Given the description of an element on the screen output the (x, y) to click on. 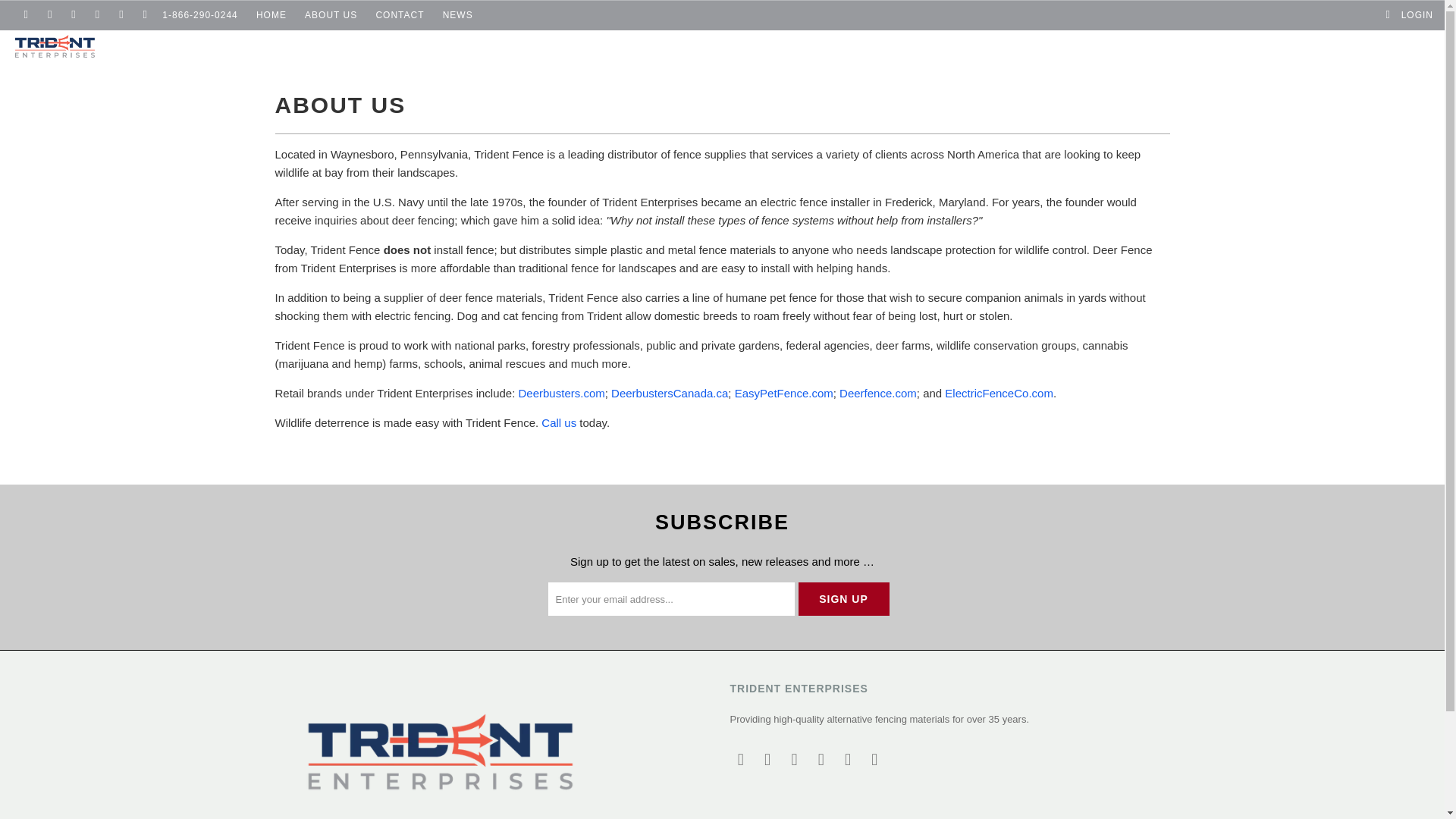
tridentcorp on YouTube (73, 14)
tridentcorp on Twitter (740, 760)
tridentcorp on Facebook (767, 760)
My Account  (1408, 15)
tridentcorp on Instagram (96, 14)
Deerbusters Canada (669, 392)
EasyPetFence.com (783, 392)
tridentcorp on Twitter (25, 14)
Electric Fence Company (998, 392)
tridentcorp on Instagram (820, 760)
Deerbusters Deer Fence (561, 392)
Email tridentcorp (144, 14)
Contact TridentCorp.com (558, 422)
tridentcorp on YouTube (794, 760)
tridentcorp (122, 46)
